Given the description of an element on the screen output the (x, y) to click on. 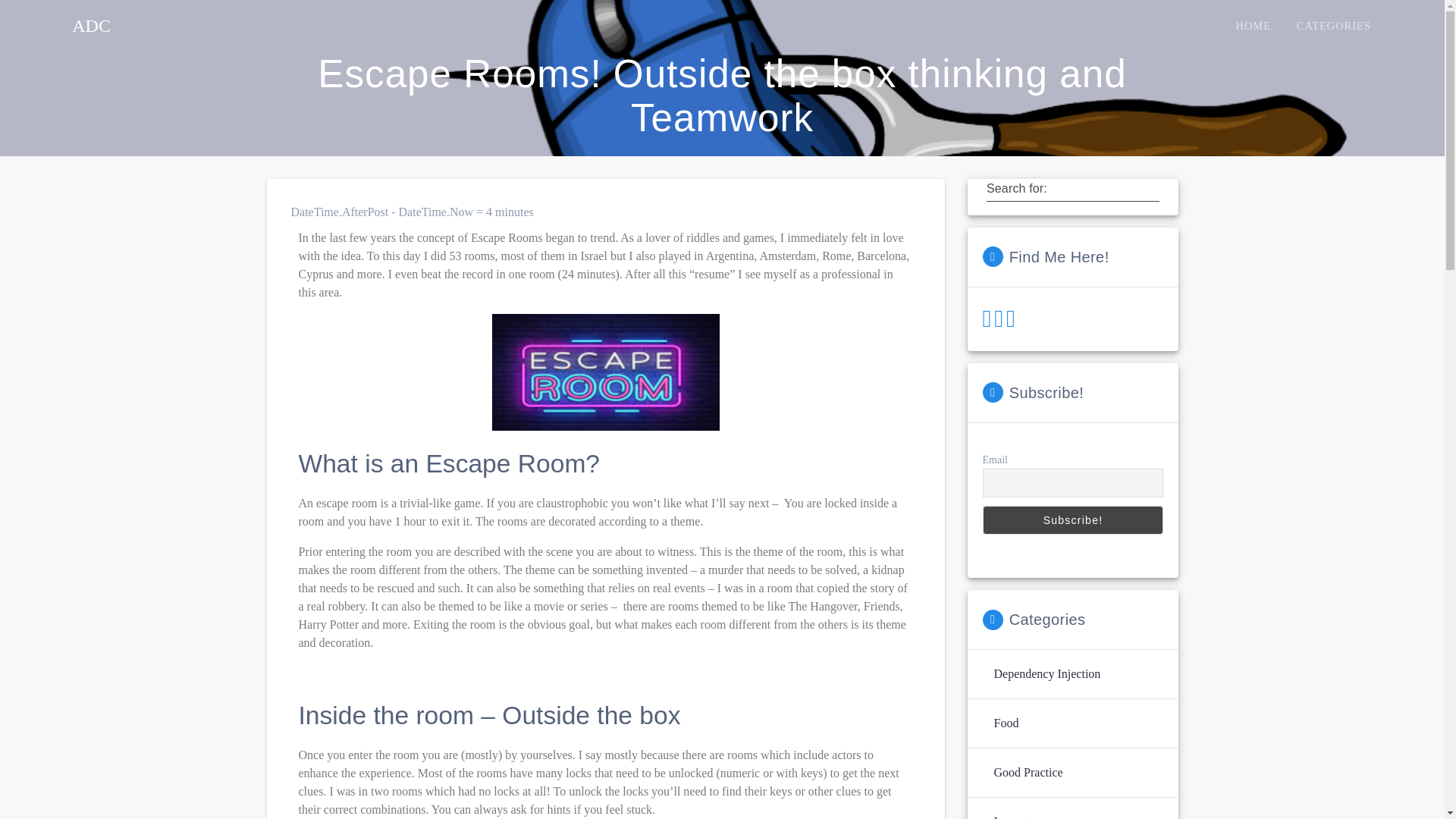
Innovate (1013, 816)
CATEGORIES (1333, 26)
Good Practice (1027, 772)
Subscribe! (1072, 520)
Subscribe! (1072, 520)
Dependency Injection (1046, 674)
HOME (1253, 26)
ADC (90, 25)
Food (1004, 723)
